Given the description of an element on the screen output the (x, y) to click on. 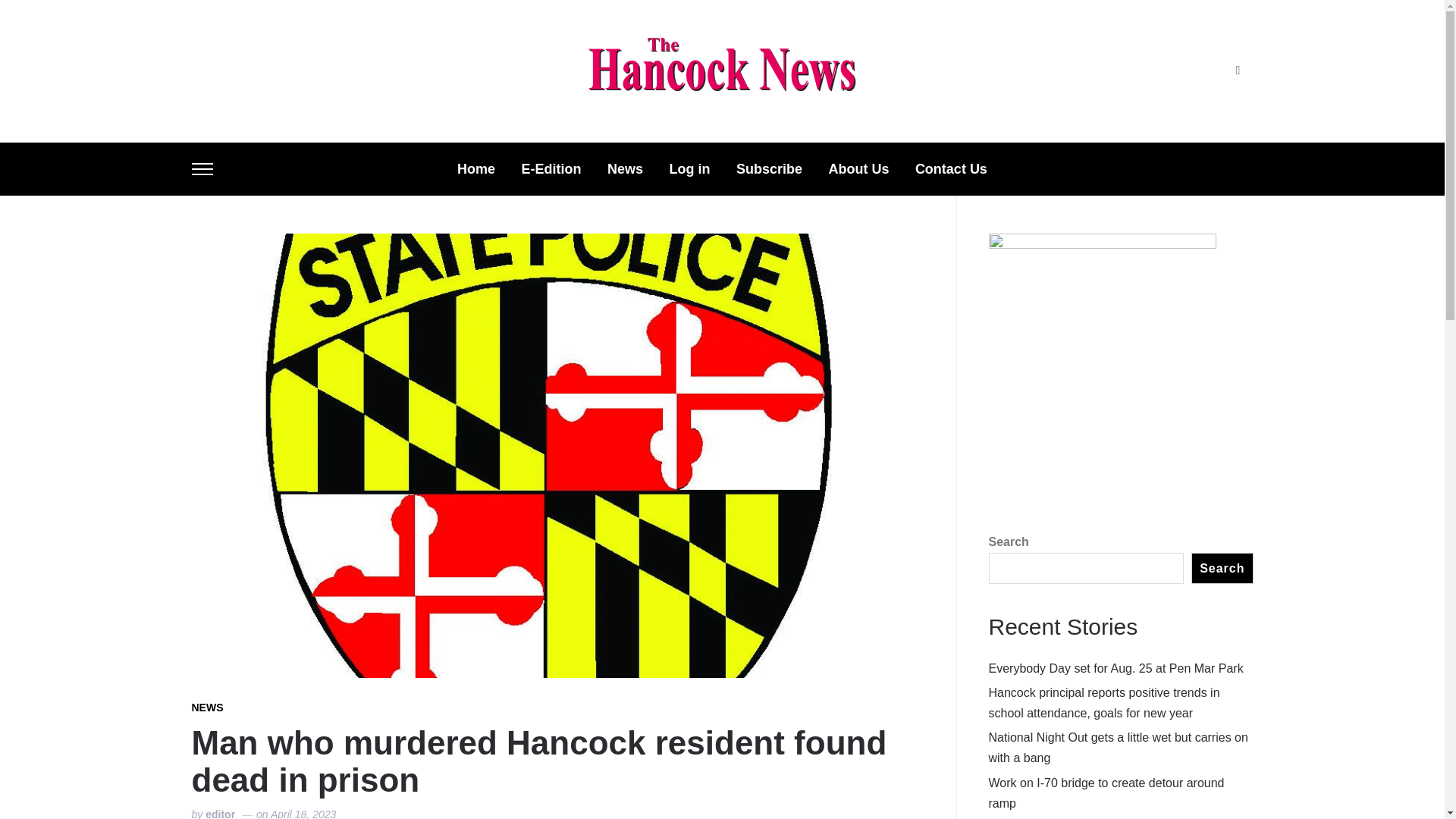
About Us (858, 169)
Home (476, 169)
Log in (689, 169)
Posts by editor (219, 813)
Subscribe (769, 169)
E-Edition (550, 169)
News (625, 169)
Search (1237, 71)
Contact Us (951, 169)
